Given the description of an element on the screen output the (x, y) to click on. 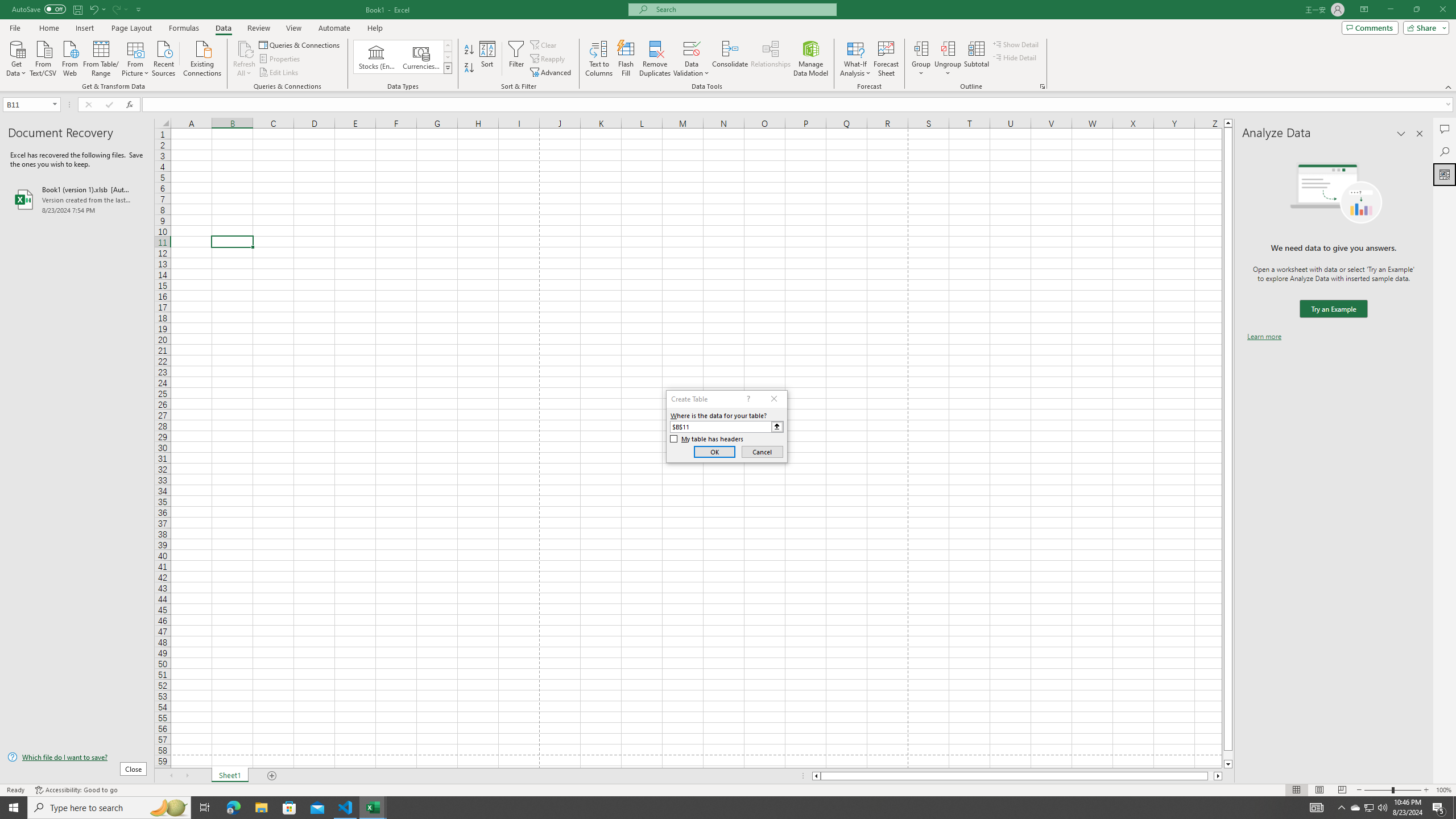
Stocks (English) (375, 56)
Sort Z to A (469, 67)
Column left (815, 775)
